Given the description of an element on the screen output the (x, y) to click on. 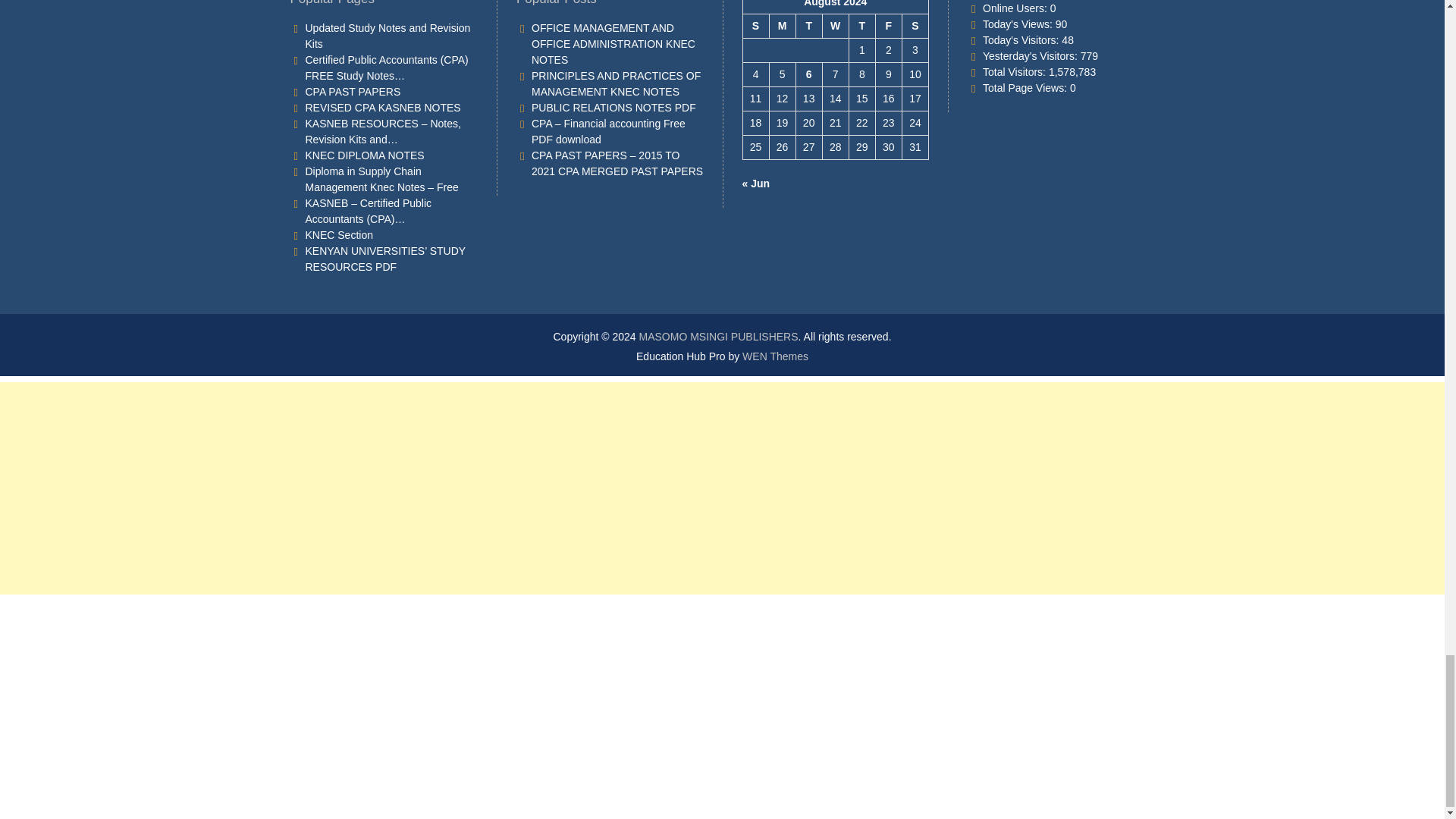
Monday (781, 26)
Tuesday (808, 26)
Sunday (755, 26)
